Given the description of an element on the screen output the (x, y) to click on. 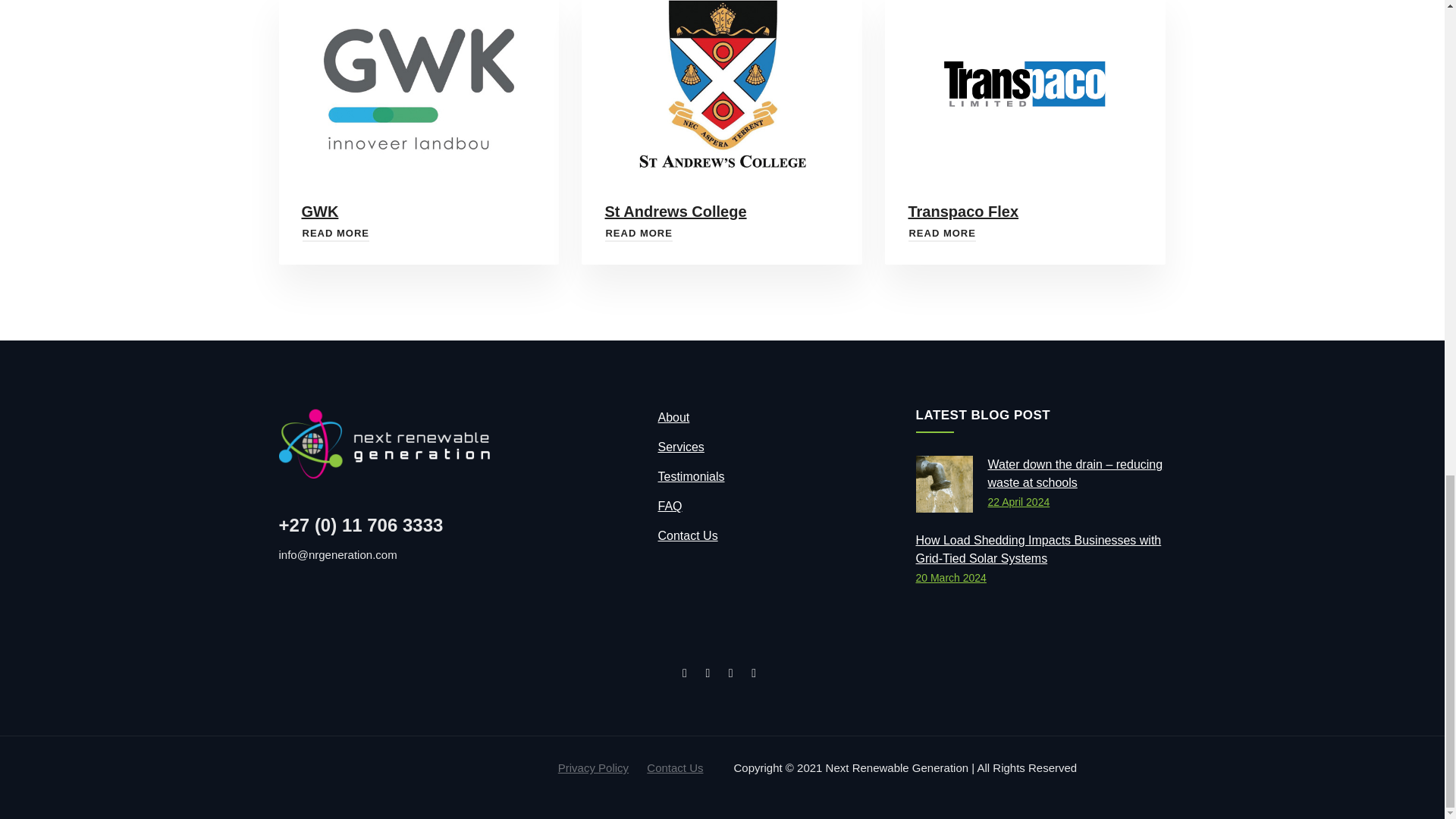
Transpaco Flex (941, 233)
GWK (335, 233)
St Andrews College (638, 233)
